Given the description of an element on the screen output the (x, y) to click on. 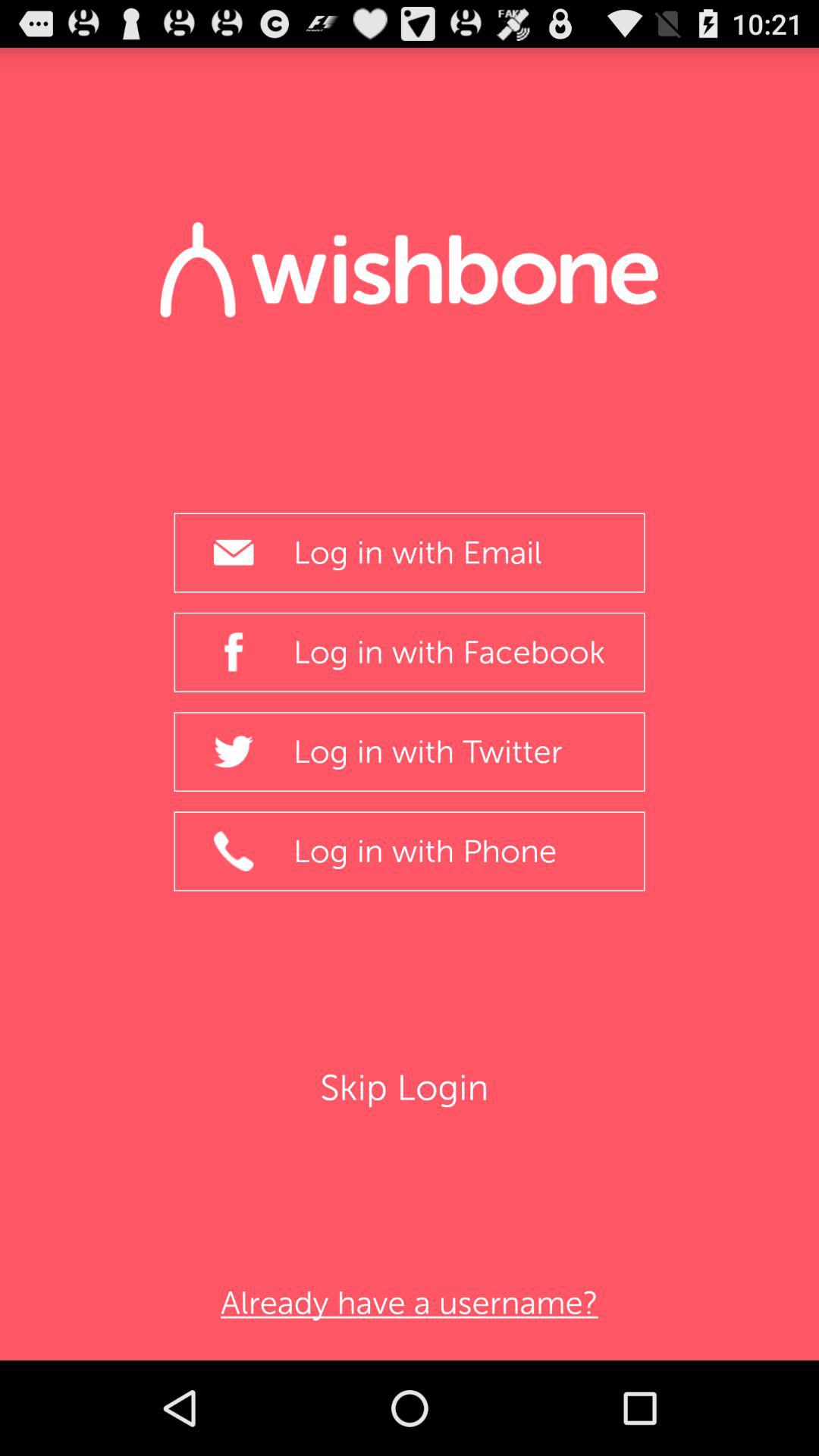
click the icon below skip login (409, 1302)
